Given the description of an element on the screen output the (x, y) to click on. 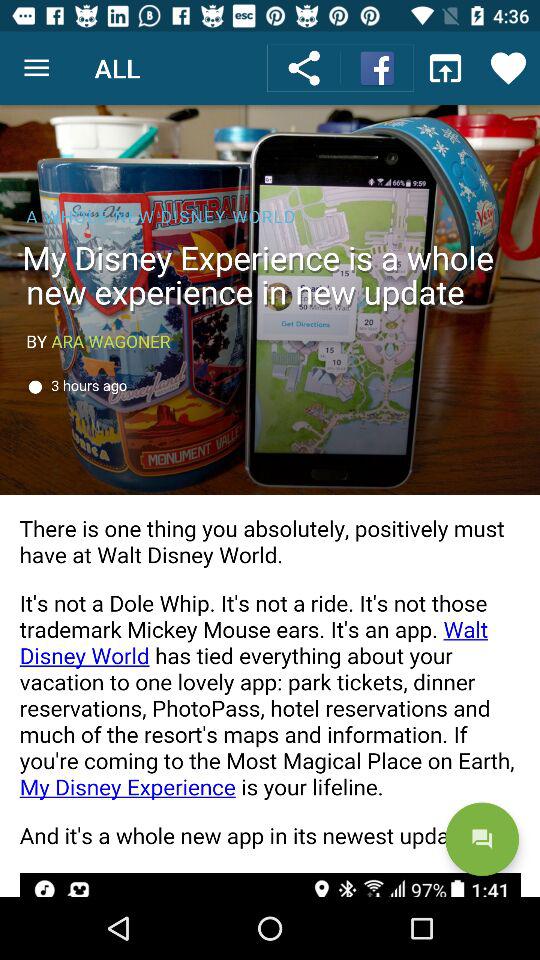
full content selection (270, 501)
